Given the description of an element on the screen output the (x, y) to click on. 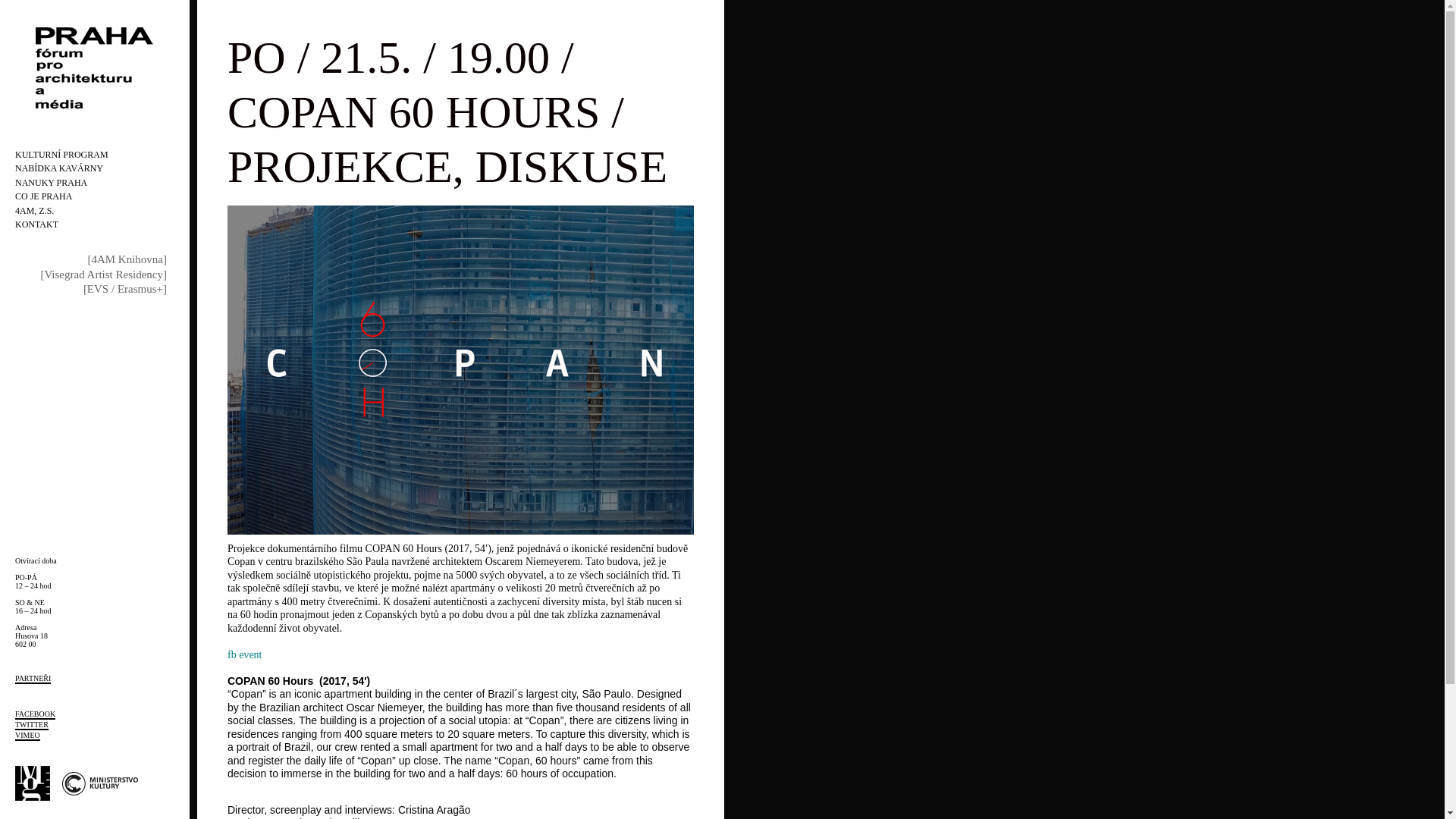
NANUKY PRAHA (50, 182)
FACEBOOK (34, 714)
TWITTER (31, 725)
4AM, Z.S. (33, 210)
VIMEO (27, 736)
fb event (244, 654)
KONTAKT (36, 224)
CO JE PRAHA (42, 195)
